Given the description of an element on the screen output the (x, y) to click on. 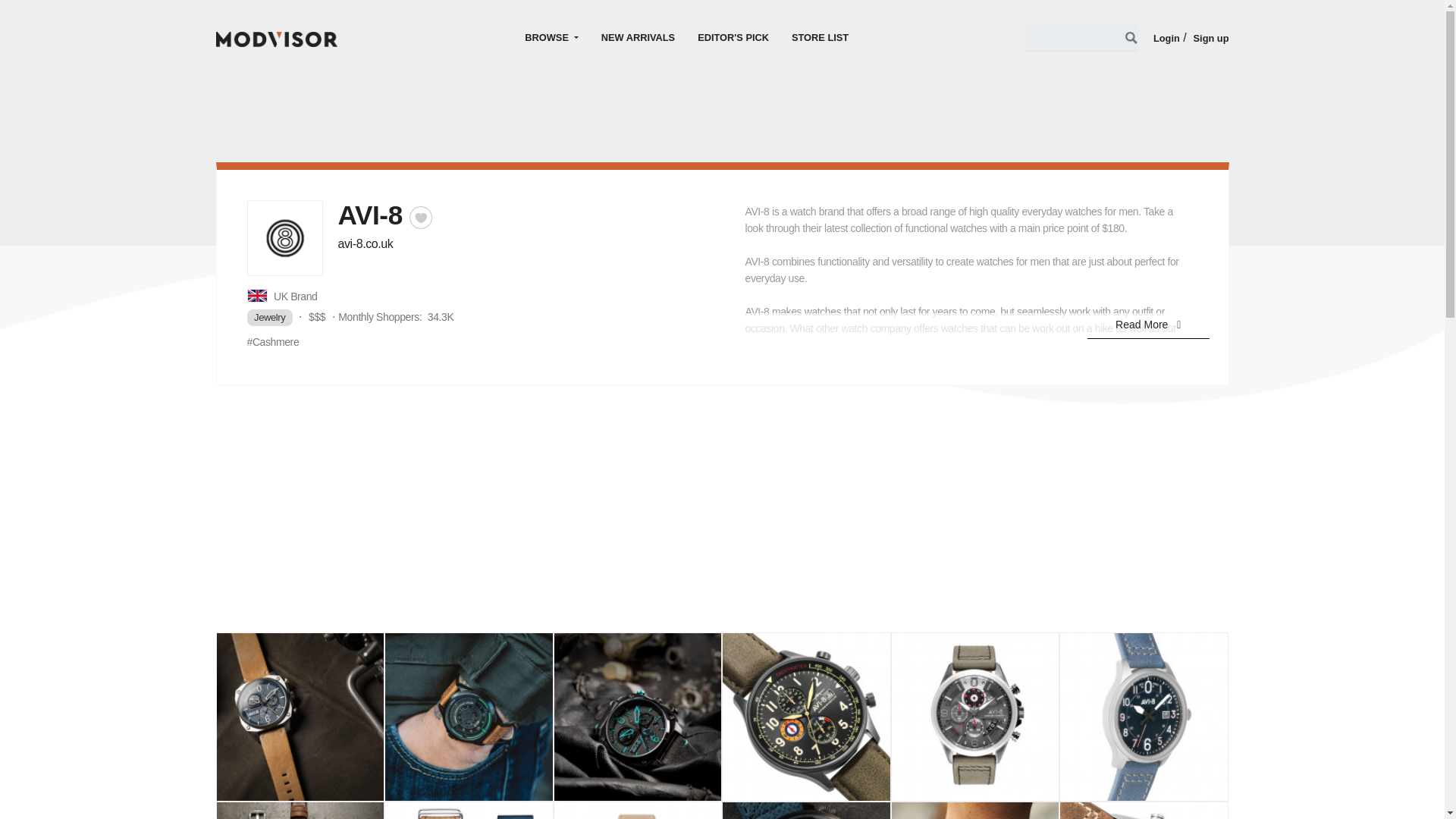
AVI-8 (638, 810)
AVI-8 (975, 716)
AVI-8 (975, 810)
NEW ARRIVALS (637, 37)
AVI-8 (805, 810)
AVI-8 (469, 716)
AVI-8 (638, 716)
AVI-8 (469, 810)
BROWSE (551, 37)
AVI-8 (1143, 716)
AVI-8 (300, 810)
AVI-8 (805, 716)
AVI-8 (300, 716)
AVI-8 (1143, 810)
